Given the description of an element on the screen output the (x, y) to click on. 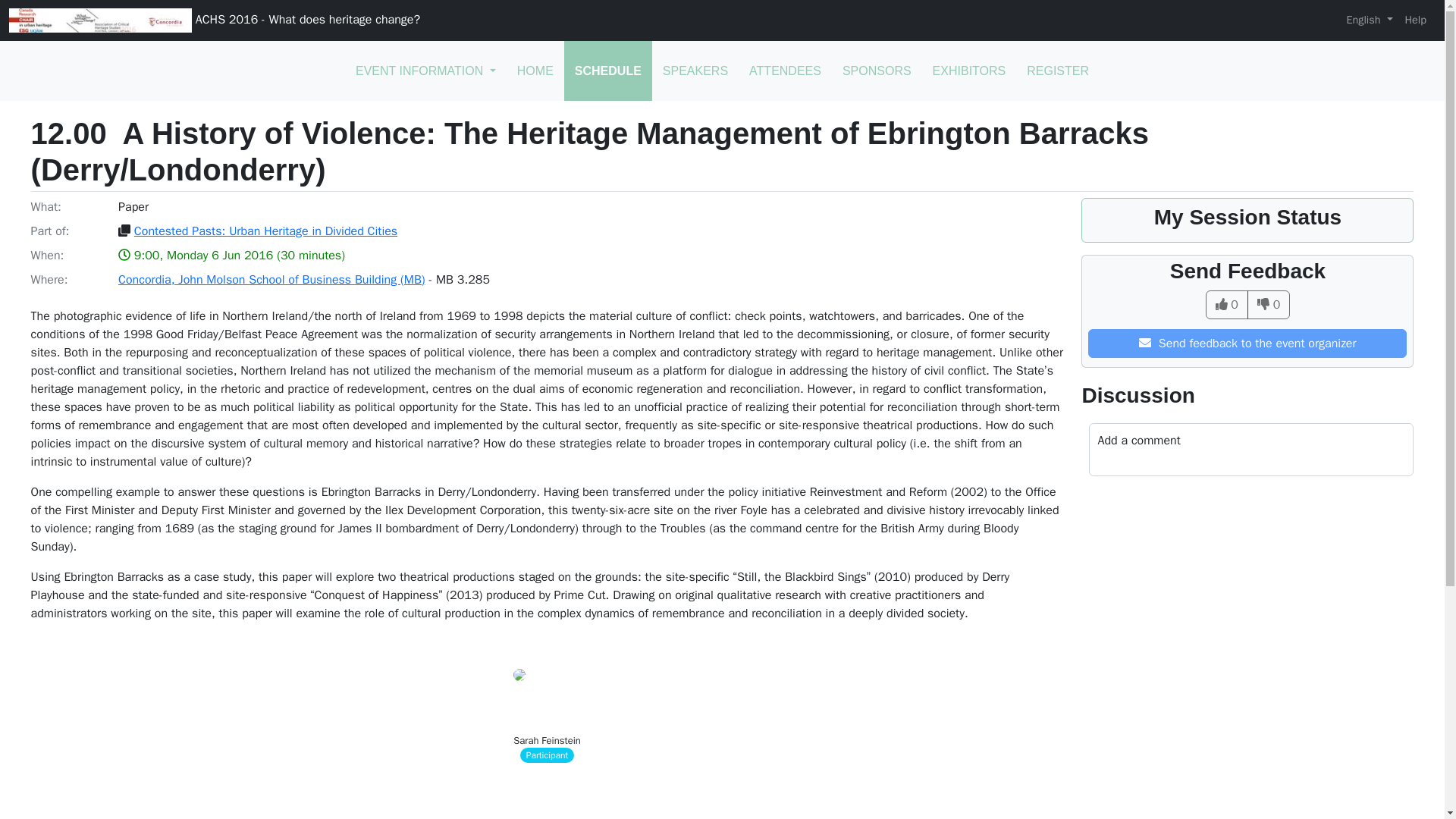
0 (1268, 304)
SPONSORS (876, 70)
SCHEDULE (608, 70)
Sarah Feinstein (546, 740)
SPEAKERS (695, 70)
English (1368, 20)
 Send feedback to the event organizer (1246, 343)
EXHIBITORS (968, 70)
Contested Pasts: Urban Heritage in Divided Cities (265, 231)
EVENT INFORMATION (425, 70)
ATTENDEES (784, 70)
REGISTER (1057, 70)
HOME (535, 70)
Help (1415, 20)
ACHS 2016 - What does heritage change? (214, 20)
